Given the description of an element on the screen output the (x, y) to click on. 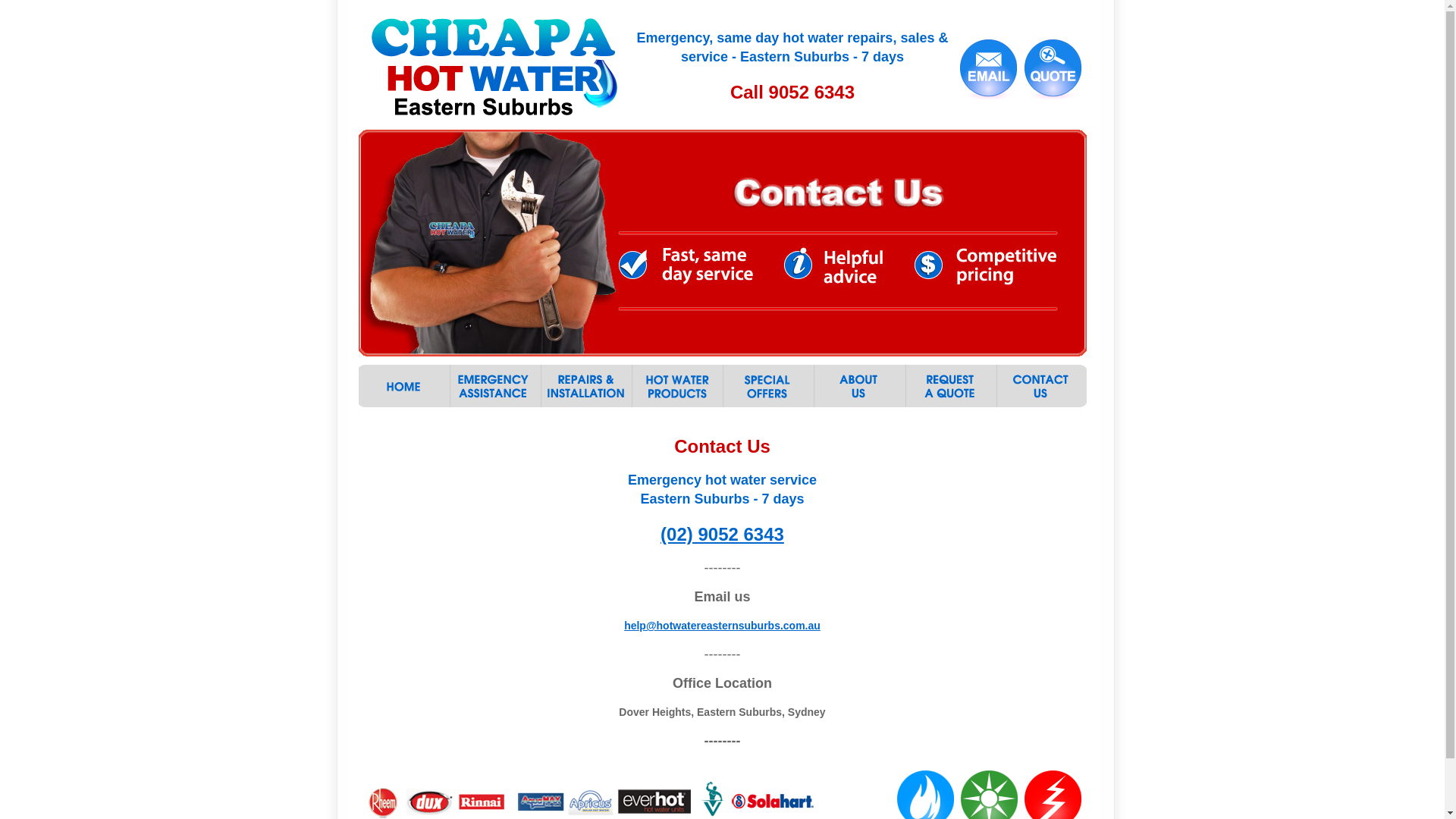
help@hotwatereasternsuburbs.com.au Element type: text (722, 625)
(02) 9052 6343 Element type: text (722, 534)
